Given the description of an element on the screen output the (x, y) to click on. 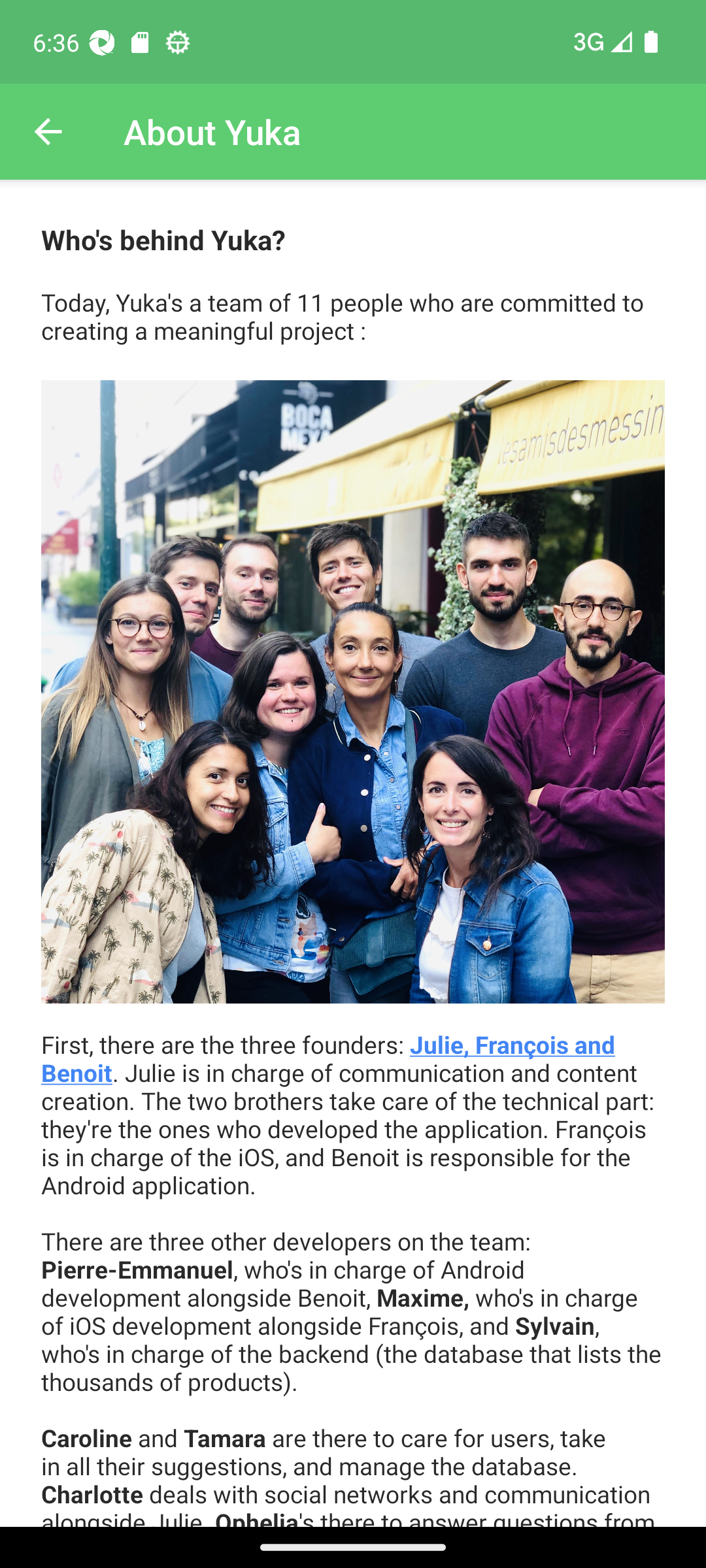
Navigate up (48, 131)
